Given the description of an element on the screen output the (x, y) to click on. 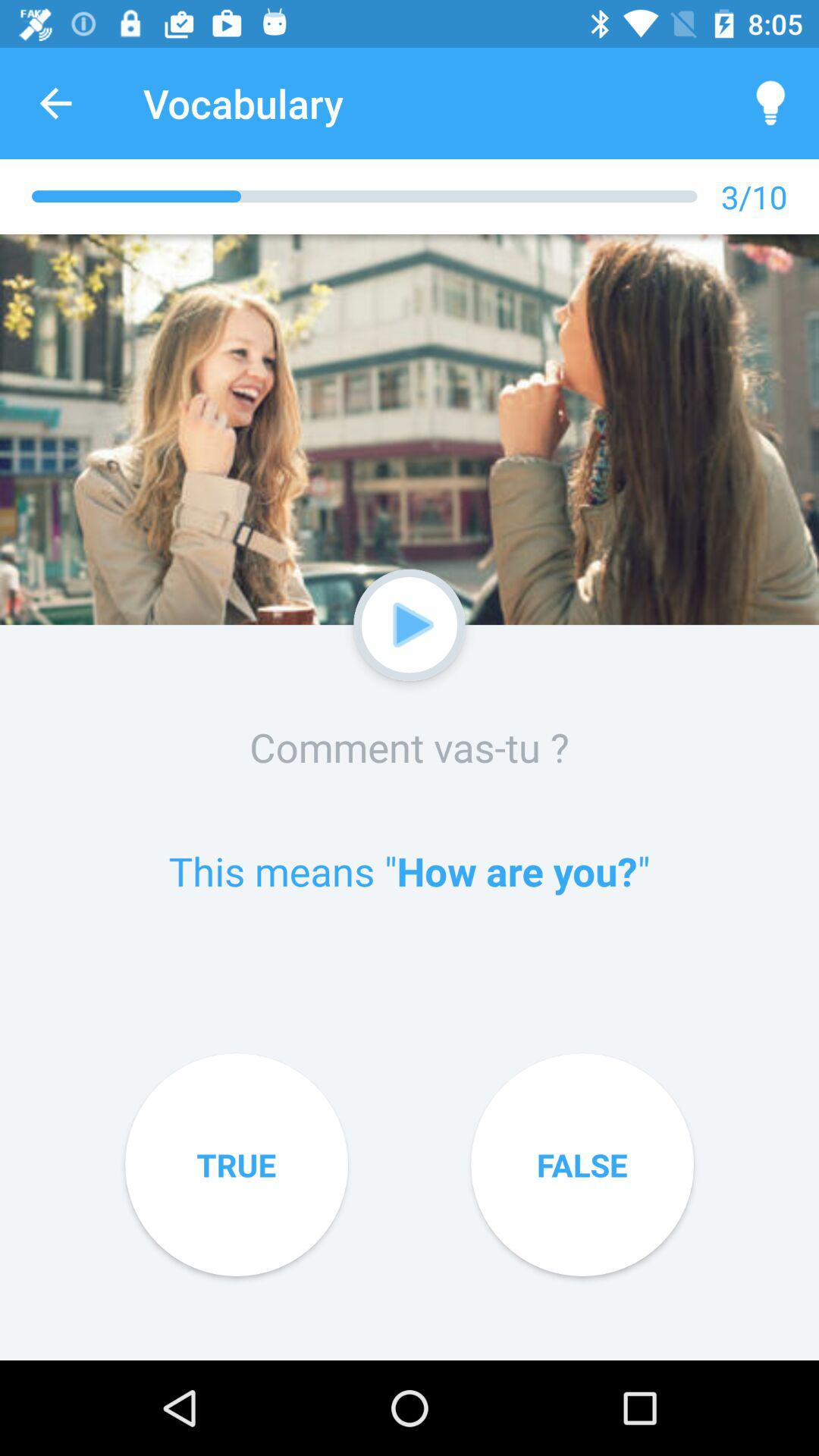
press the item to the right of vocabulary app (771, 103)
